Given the description of an element on the screen output the (x, y) to click on. 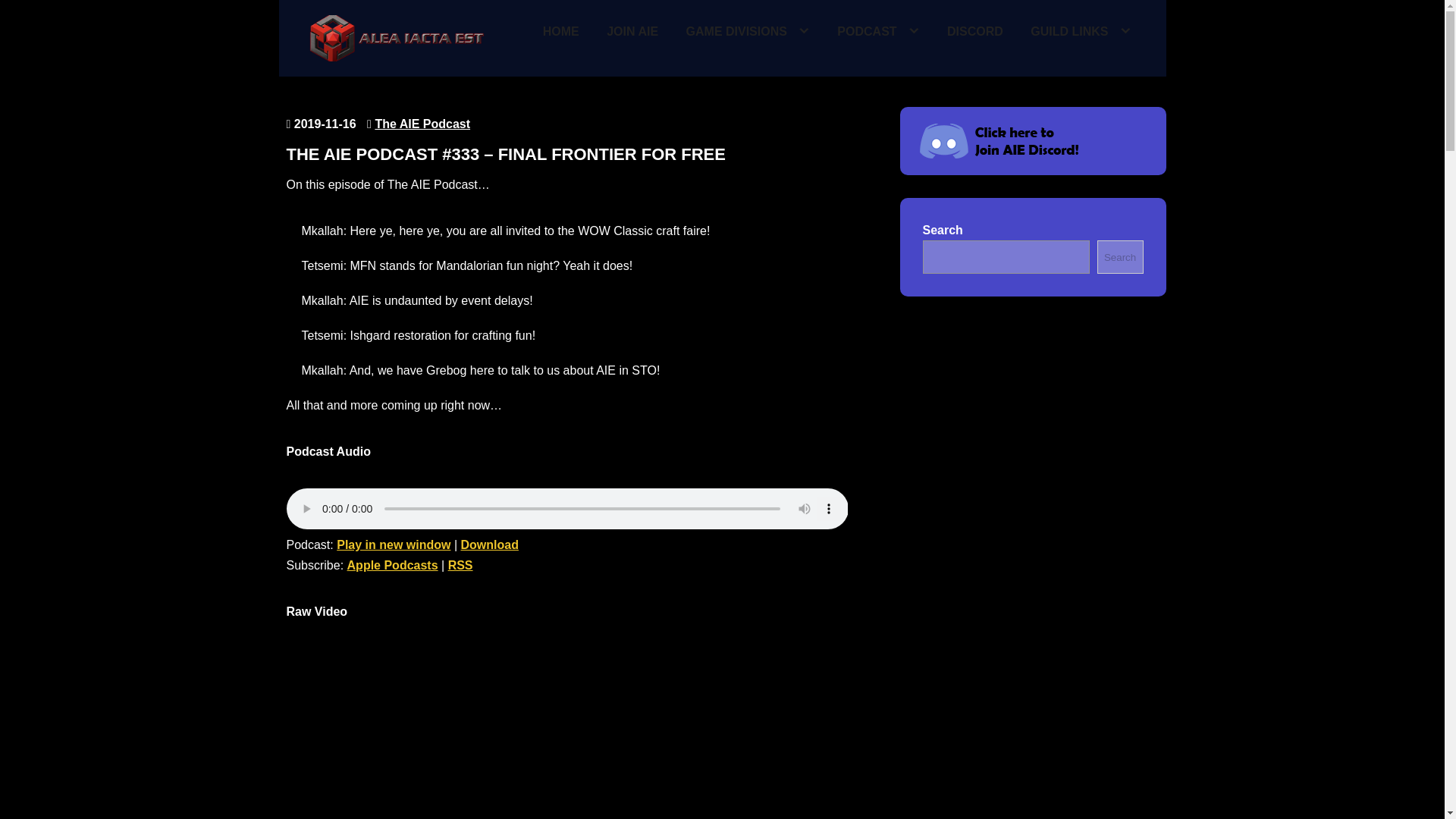
Subscribe on Apple Podcasts (392, 564)
GAME DIVISIONS (747, 31)
Download (489, 544)
Search (1119, 256)
Play in new window (392, 544)
GUILD LINKS (1080, 31)
ALEA IACTA EST (393, 73)
Apple Podcasts (392, 564)
Download (489, 544)
The AIE Podcast (422, 123)
DISCORD (975, 31)
HOME (561, 31)
JOIN AIE (632, 31)
Subscribe via RSS (460, 564)
Play in new window (392, 544)
